Given the description of an element on the screen output the (x, y) to click on. 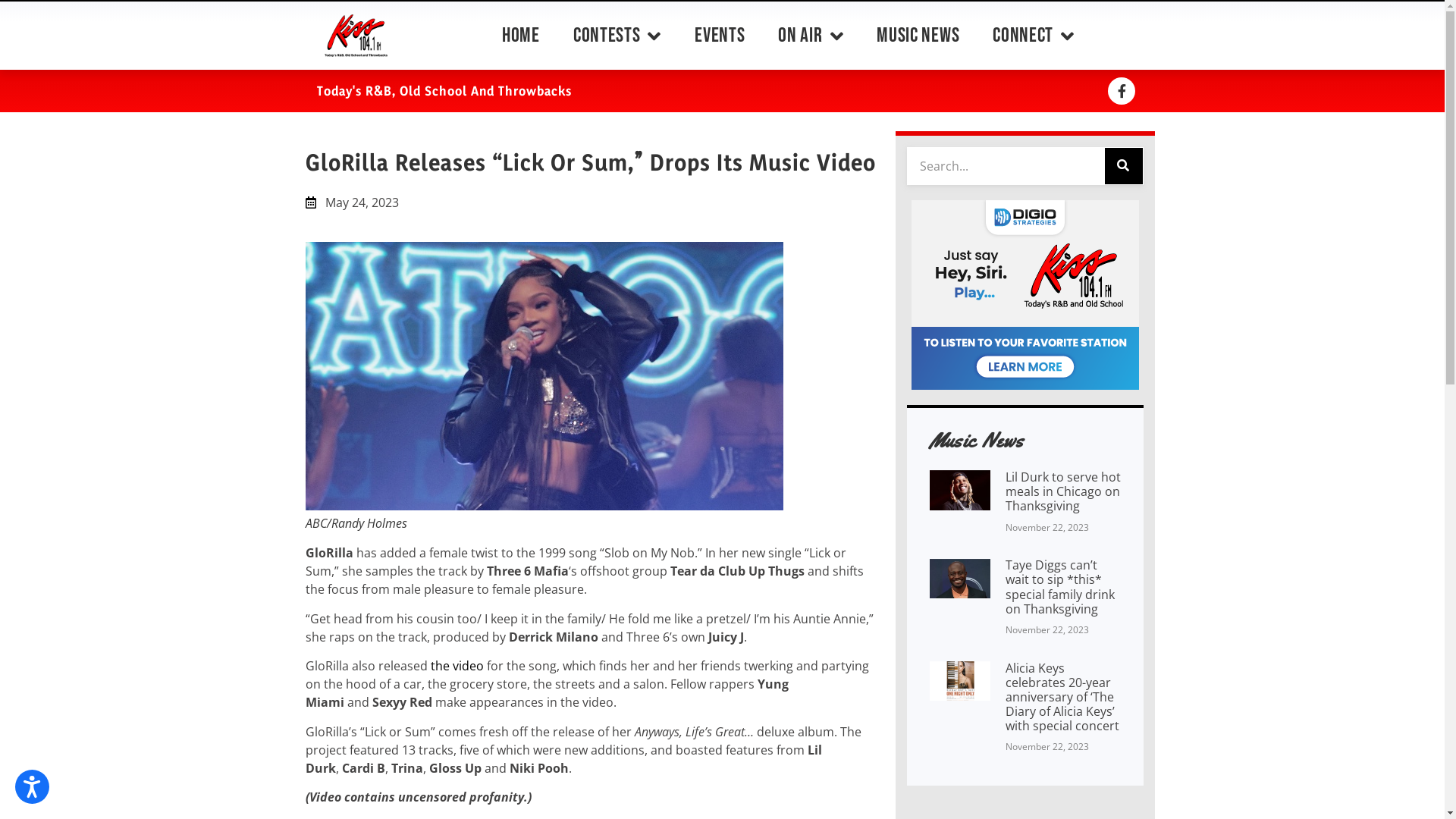
Music News Element type: text (917, 35)
Lil Durk to serve hot meals in Chicago on Thanksgiving Element type: text (1062, 491)
Contests Element type: text (617, 35)
Connect Element type: text (1033, 35)
Events Element type: text (719, 35)
May 24, 2023 Element type: text (351, 202)
Home Element type: text (520, 35)
On Air Element type: text (810, 35)
the video Element type: text (456, 665)
